Given the description of an element on the screen output the (x, y) to click on. 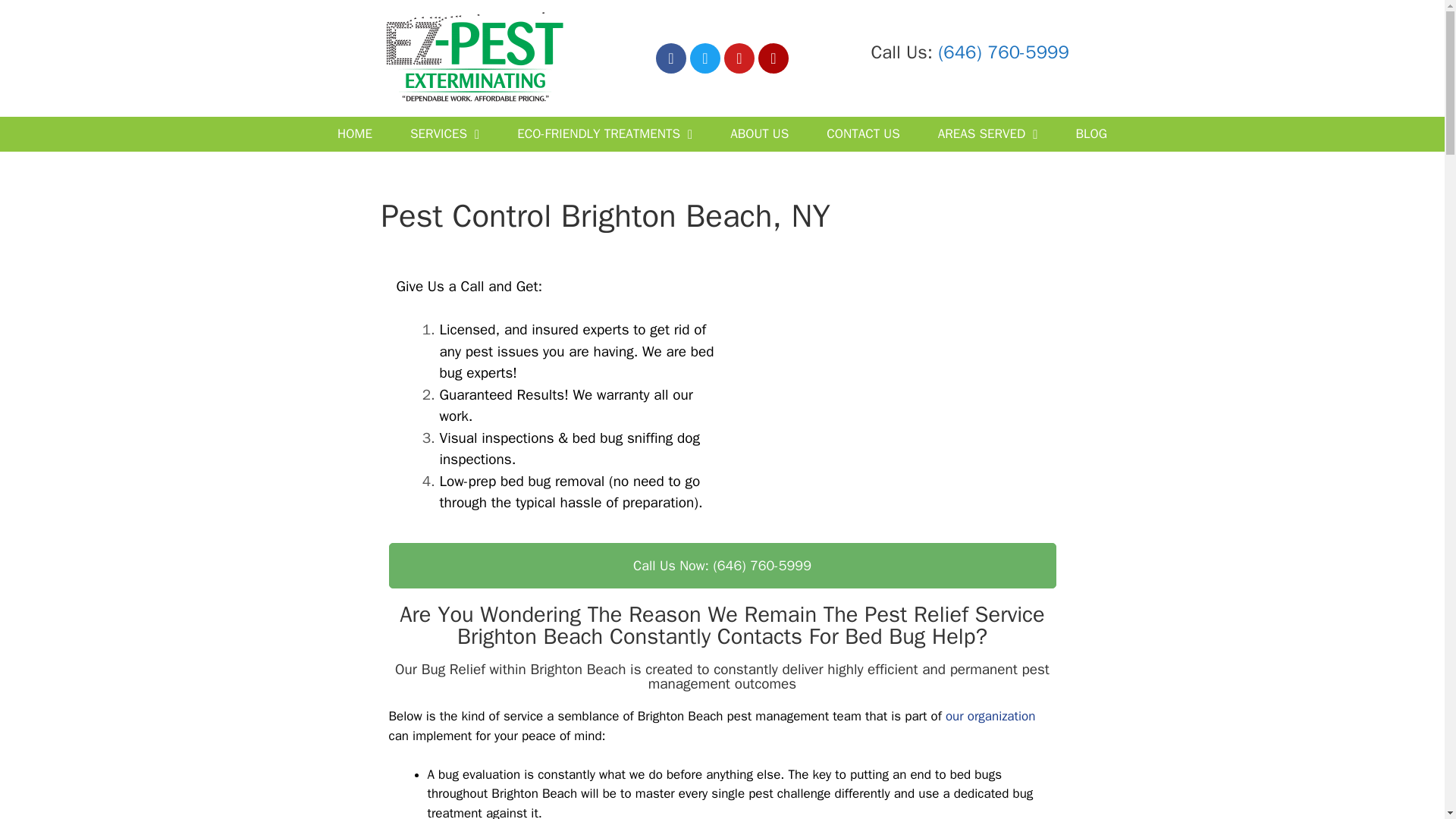
AREAS SERVED (987, 134)
HOME (354, 134)
ABOUT US (759, 134)
SERVICES (444, 134)
ECO-FRIENDLY TREATMENTS (604, 134)
CONTACT US (863, 134)
